Given the description of an element on the screen output the (x, y) to click on. 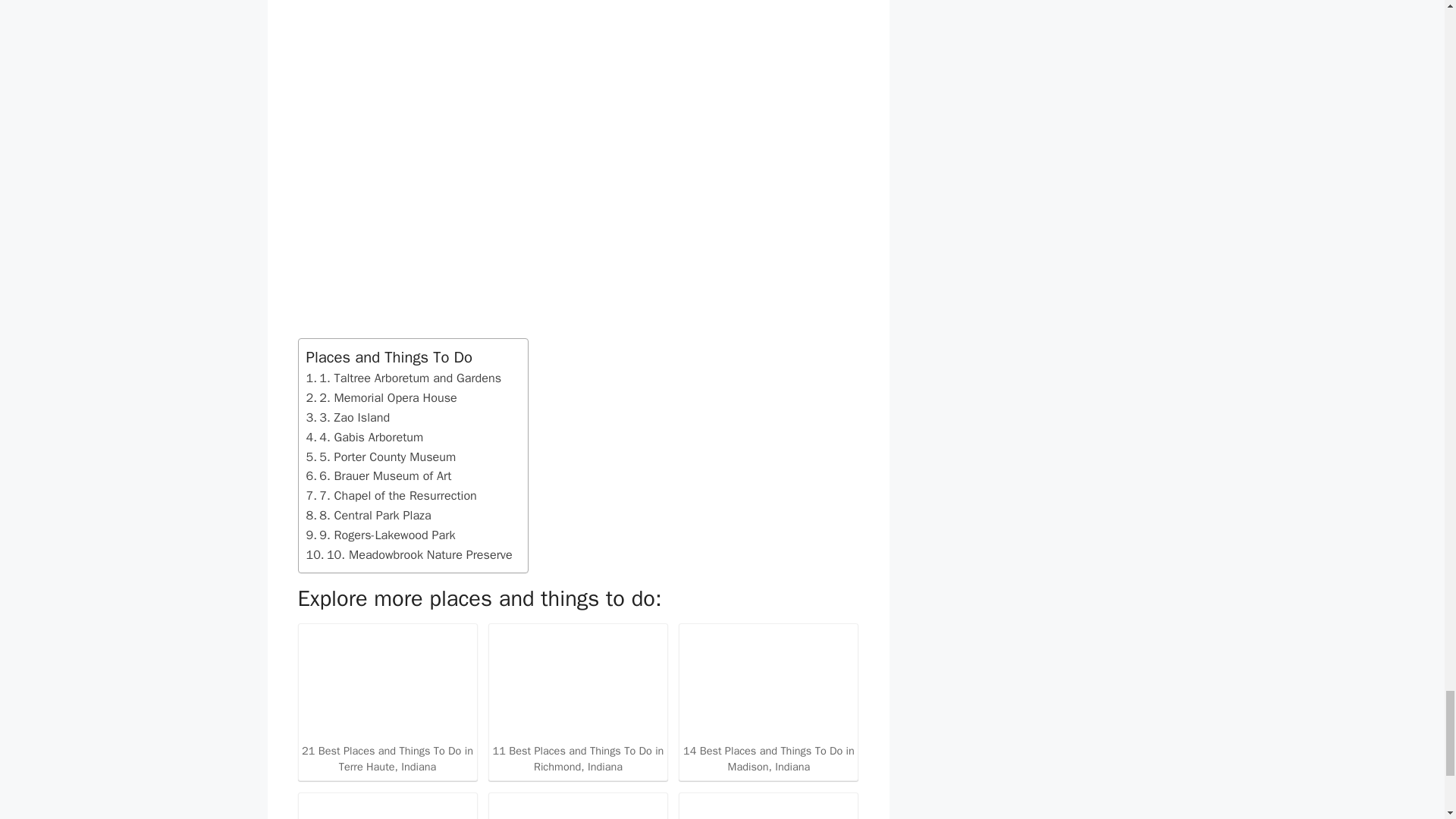
7 Best Places and Things To Do in Fishers, Indiana (768, 807)
14 Best Places and Things To Do in Madison, Indiana (768, 700)
3. Zao Island (347, 417)
7. Chapel of the Resurrection (391, 496)
3. Zao Island (347, 417)
21 Best Places and Things To Do in Terre Haute, Indiana (386, 700)
4. Gabis Arboretum (364, 437)
2. Memorial Opera House (381, 397)
9. Rogers-Lakewood Park (380, 535)
10. Meadowbrook Nature Preserve (408, 555)
